Given the description of an element on the screen output the (x, y) to click on. 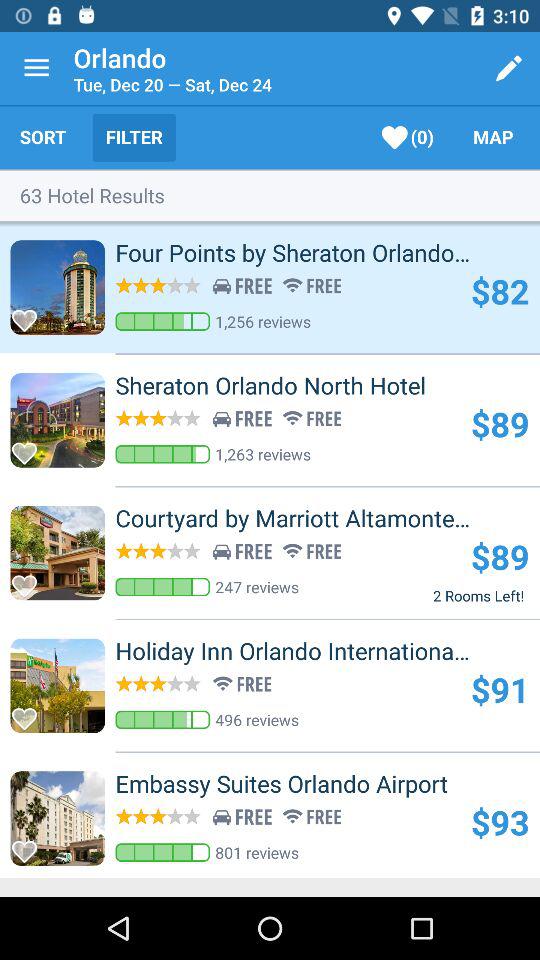
tap the courtyard by marriott (327, 518)
